Given the description of an element on the screen output the (x, y) to click on. 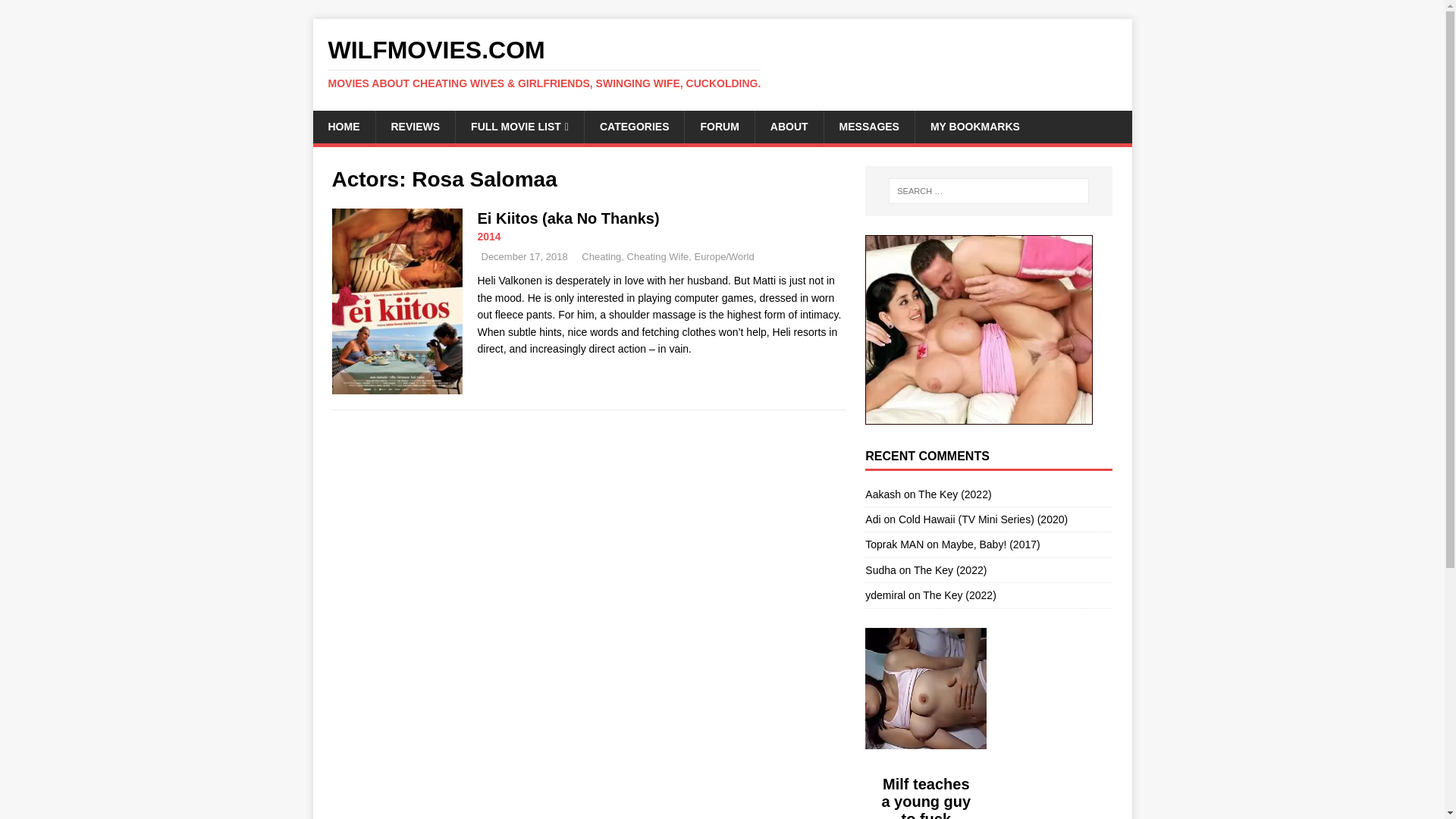
Search (56, 11)
MESSAGES (869, 126)
Cheating (600, 256)
ABOUT (789, 126)
CATEGORIES (633, 126)
FULL MOVIE LIST (518, 126)
HOME (343, 126)
REVIEWS (414, 126)
FORUM (719, 126)
WilfMovies.com (721, 63)
